Given the description of an element on the screen output the (x, y) to click on. 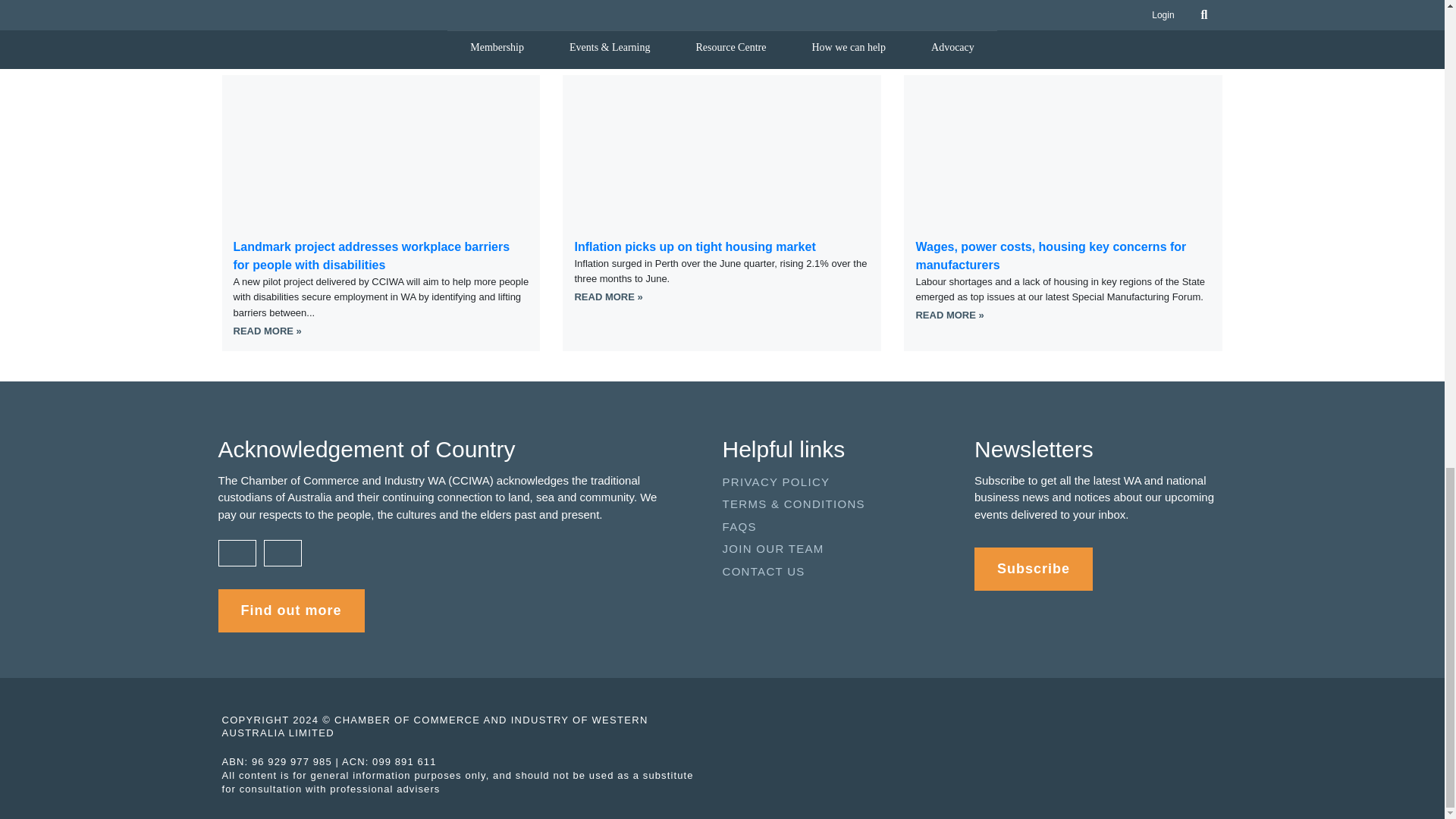
Twitter (580, 0)
LinkedIn (769, 0)
Email (863, 0)
Facebook (674, 0)
